Given the description of an element on the screen output the (x, y) to click on. 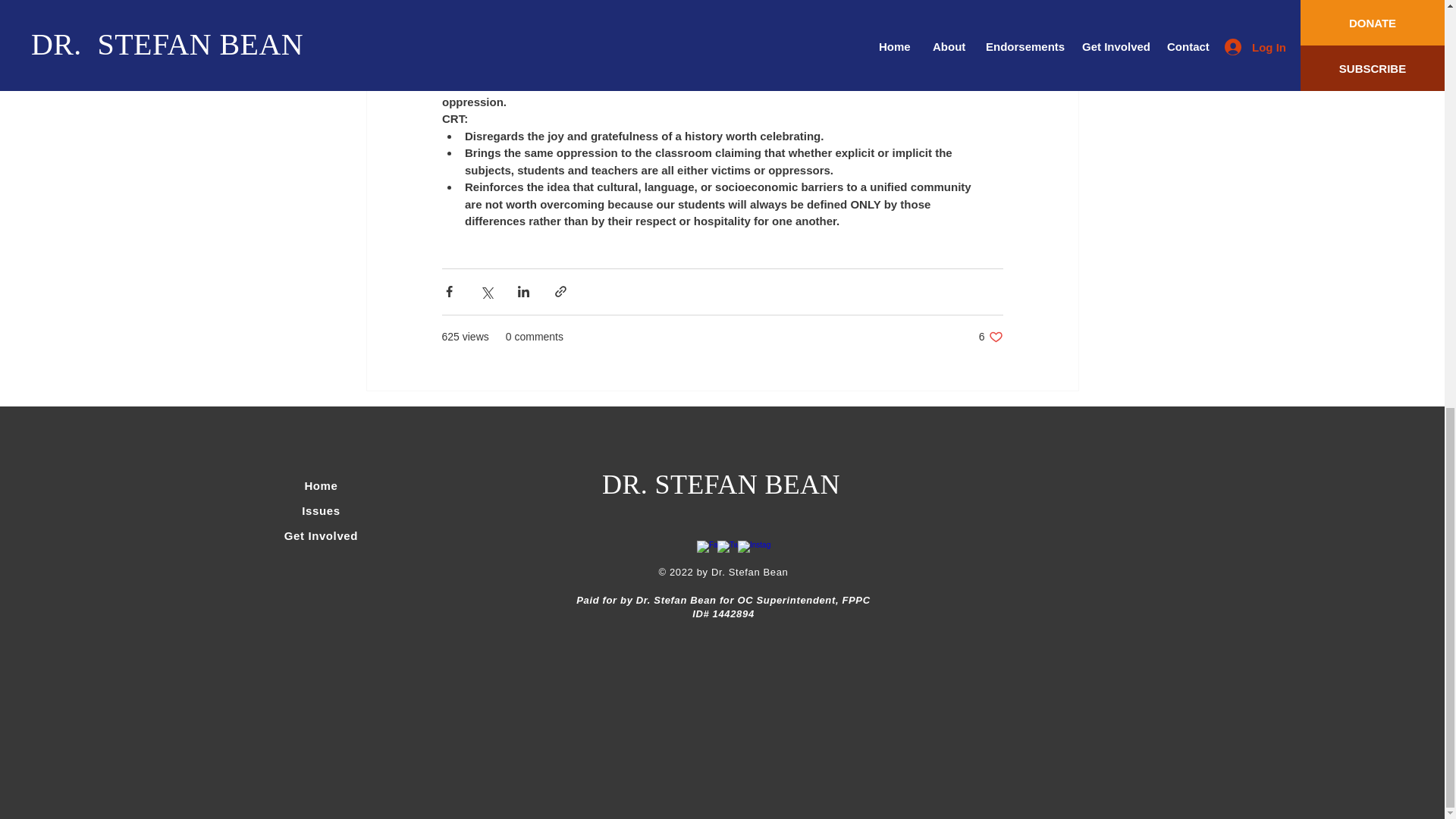
Issues (990, 336)
Get Involved (320, 510)
Home (320, 535)
